Given the description of an element on the screen output the (x, y) to click on. 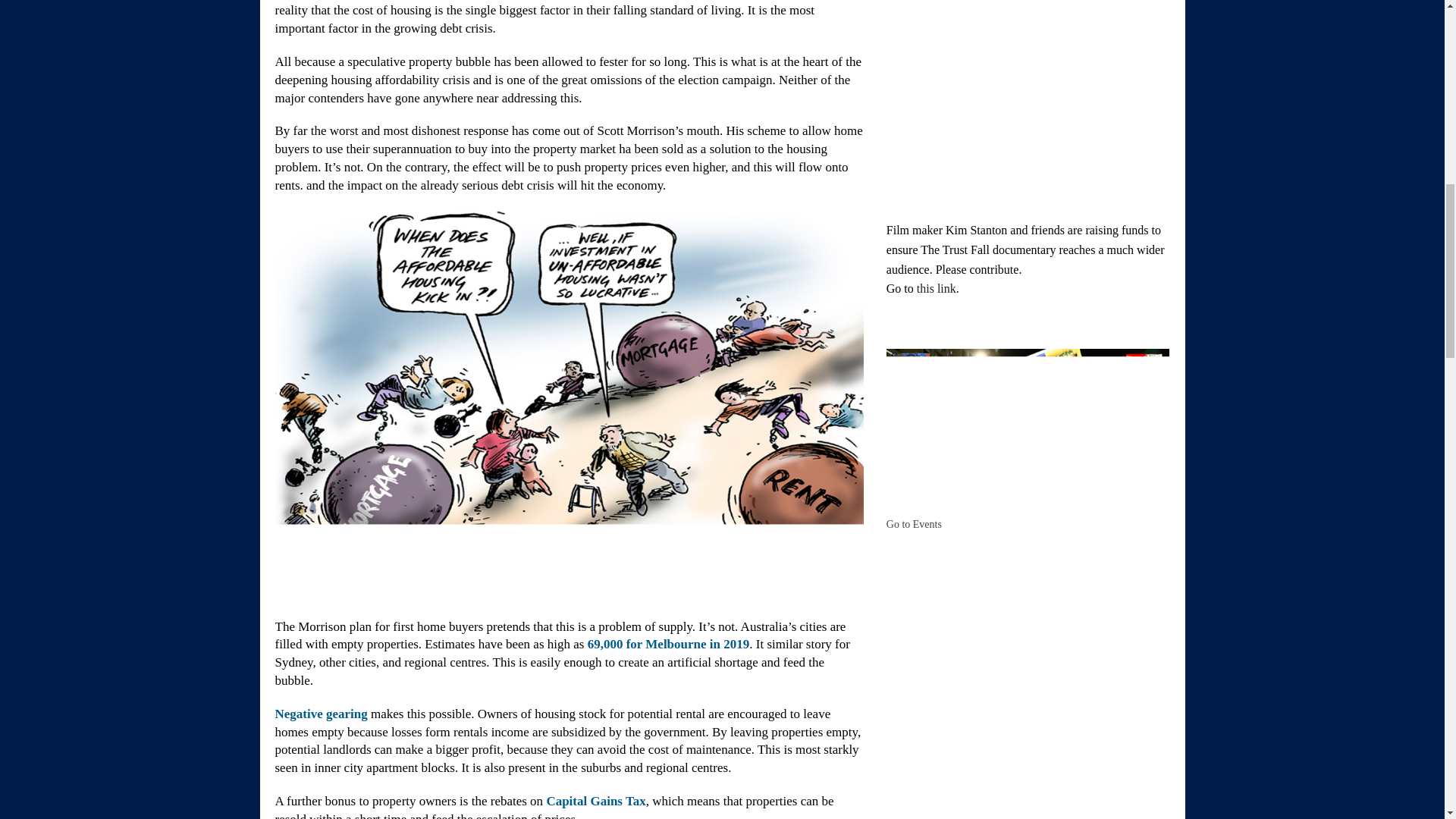
Negative gearing (320, 713)
Capital Gains Tax (595, 800)
69,000 for Melbourne in 2019 (668, 644)
